Given the description of an element on the screen output the (x, y) to click on. 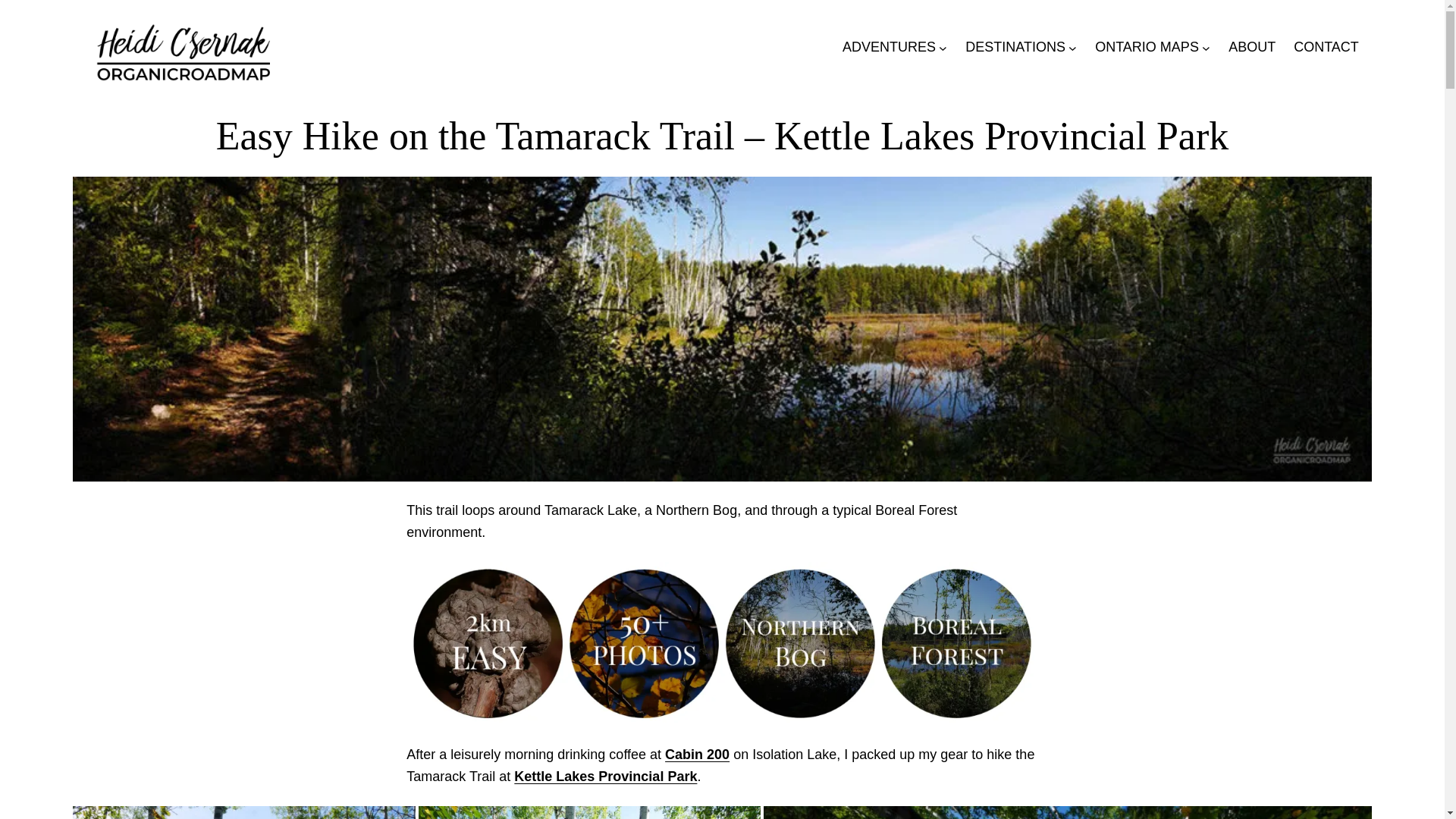
ONTARIO MAPS (1146, 47)
DESTINATIONS (1015, 47)
ADVENTURES (889, 47)
Kettle Lakes Provincial Park (605, 776)
CONTACT (1326, 47)
ABOUT (1251, 47)
Cabin 200 (697, 754)
